Given the description of an element on the screen output the (x, y) to click on. 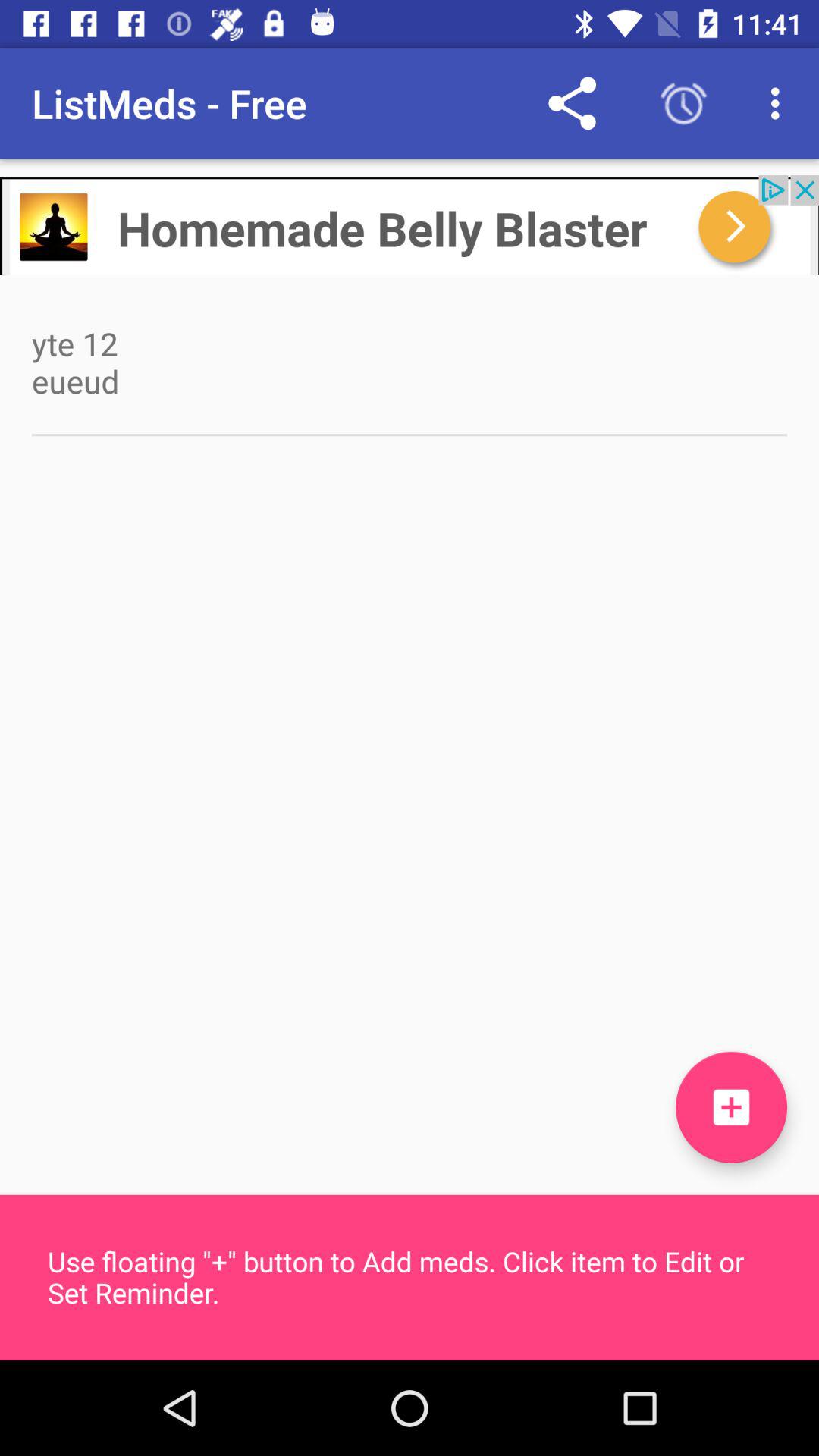
add meds (731, 1107)
